Given the description of an element on the screen output the (x, y) to click on. 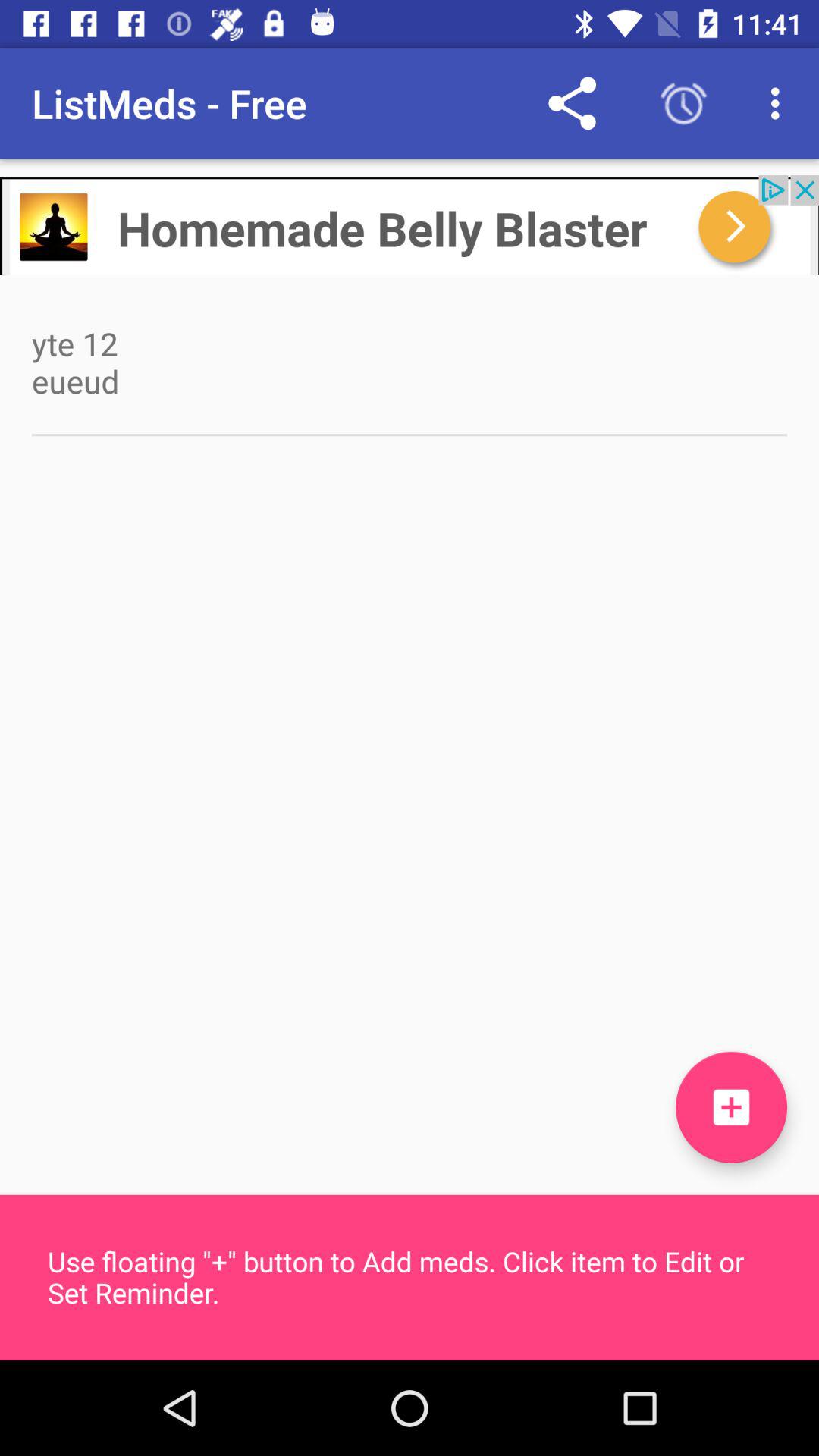
add meds (731, 1107)
